Given the description of an element on the screen output the (x, y) to click on. 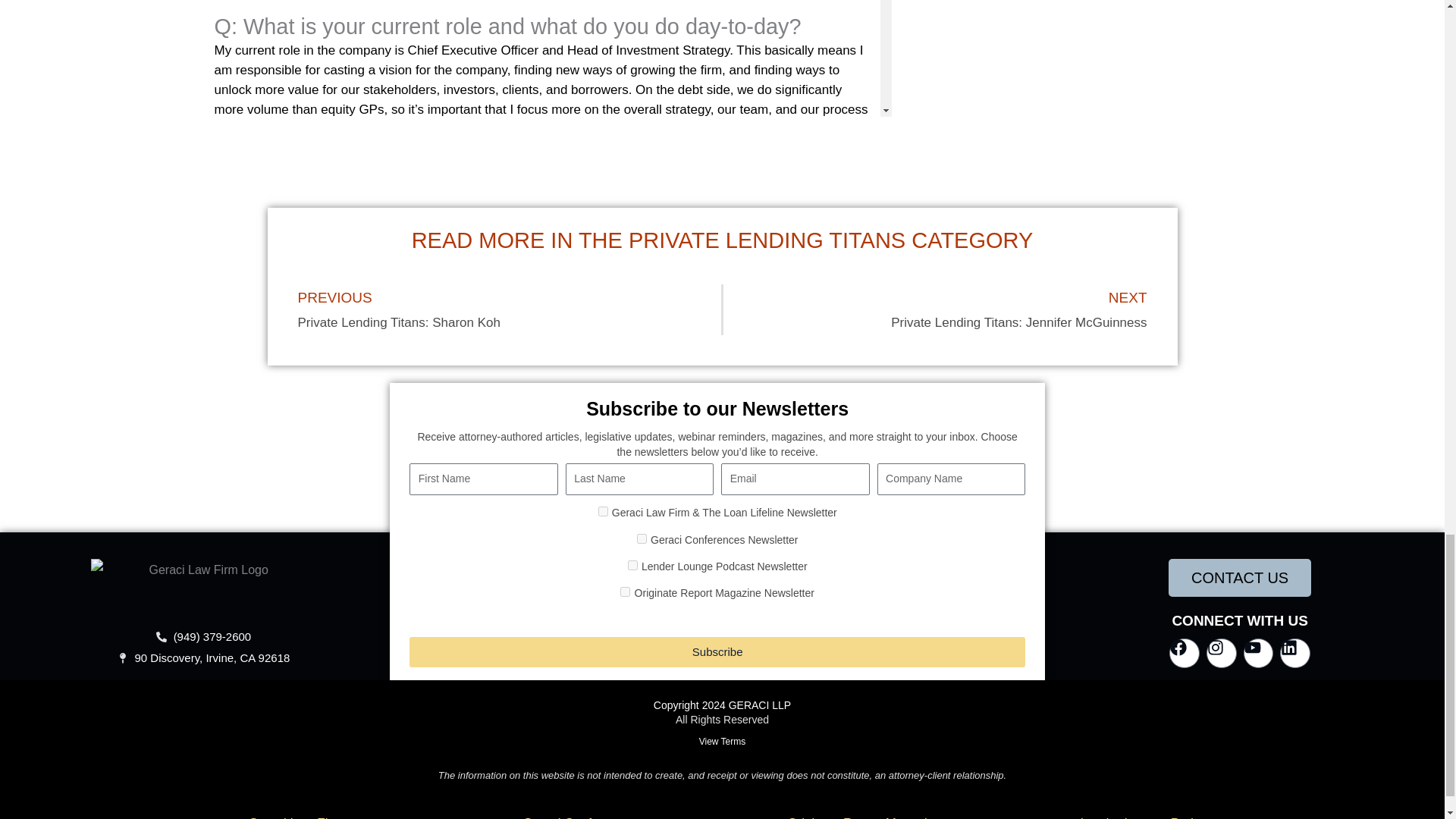
Geraci Conferences Newsletter (641, 538)
Lender Lounge Podcast Newsletter (632, 565)
Originate Report Magazine Newsletter (625, 592)
